Given the description of an element on the screen output the (x, y) to click on. 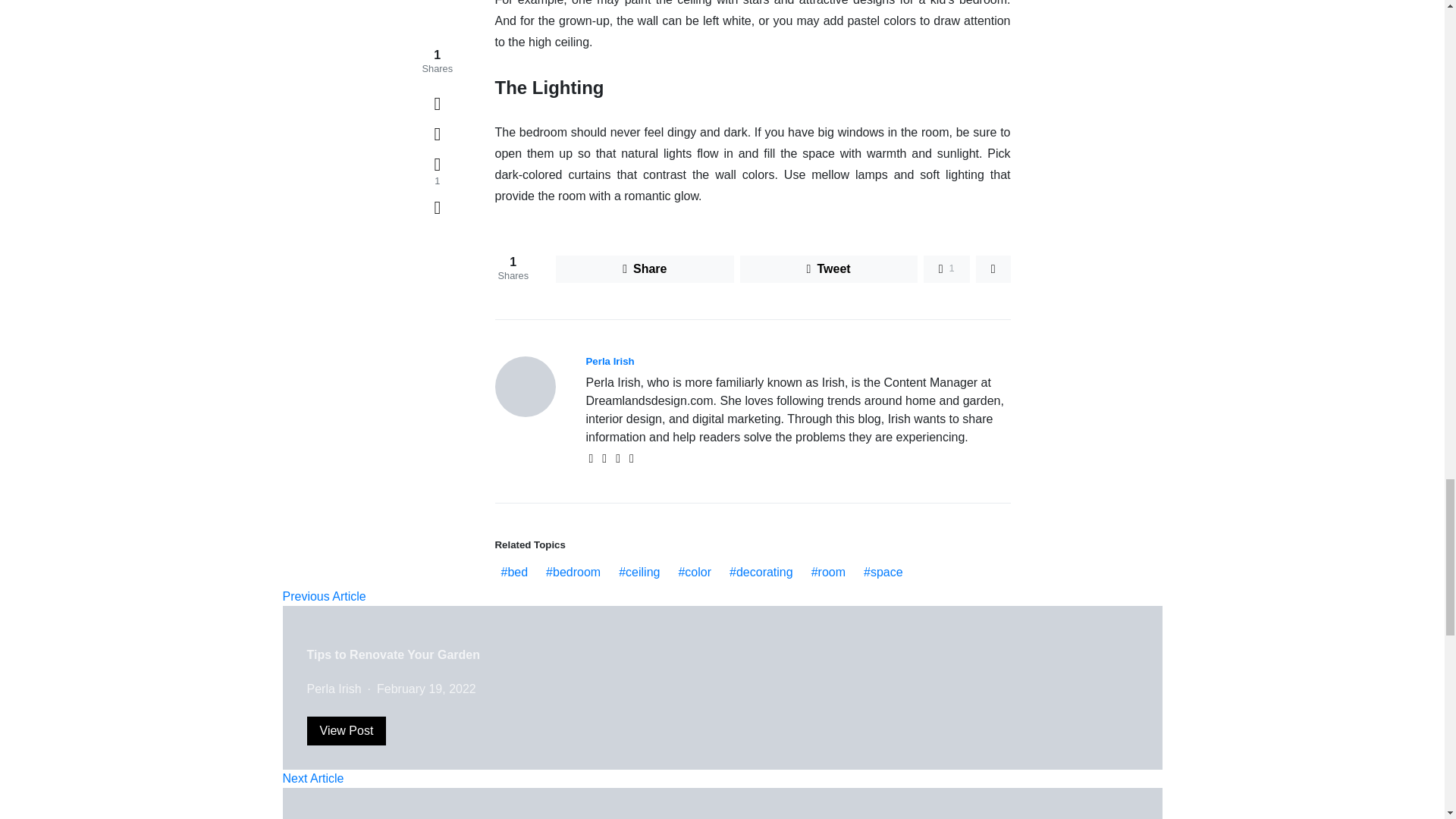
View all posts by Perla Irish (333, 688)
